Given the description of an element on the screen output the (x, y) to click on. 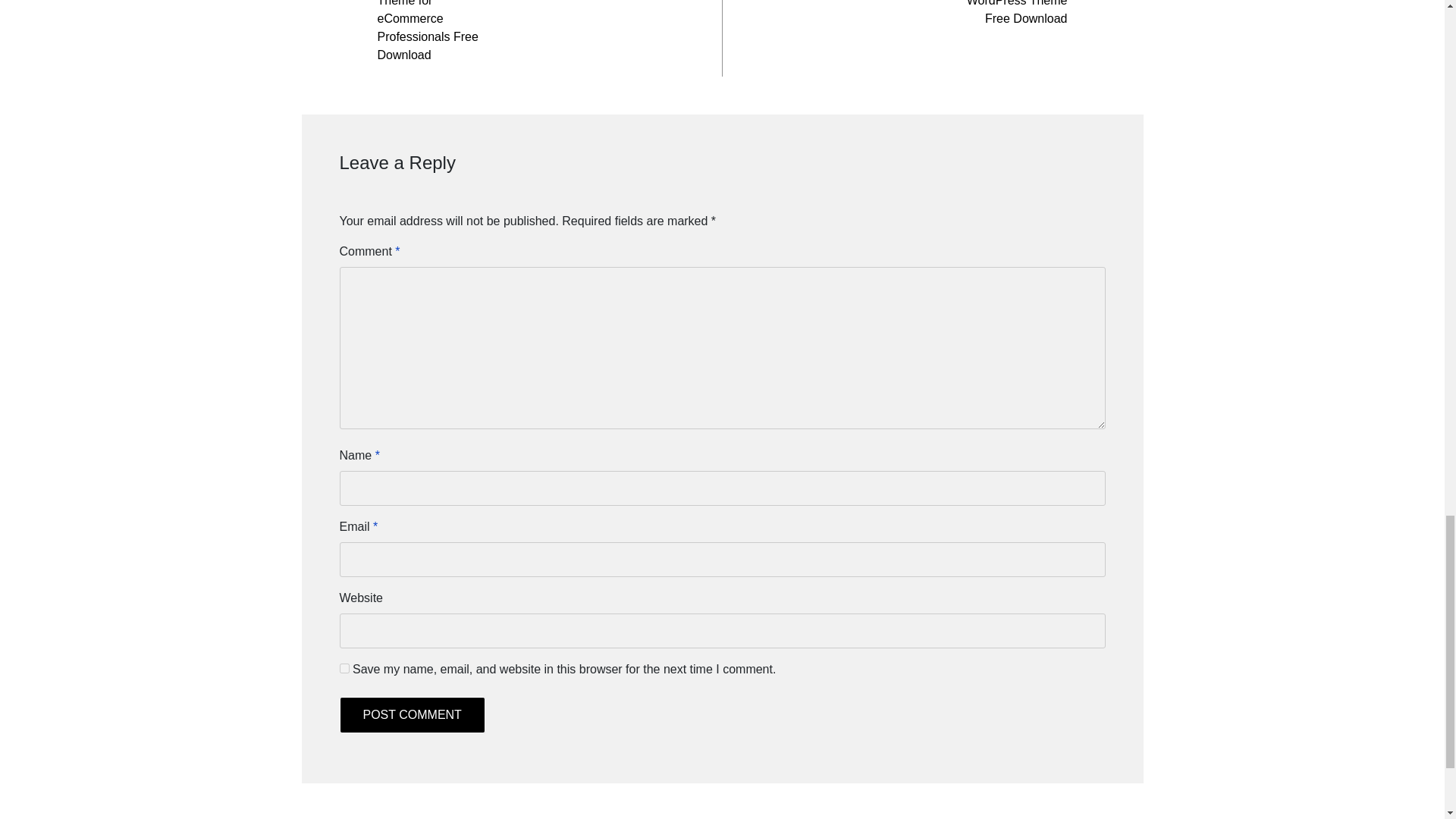
Post Comment (411, 714)
yes (344, 668)
Post Comment (411, 714)
